Given the description of an element on the screen output the (x, y) to click on. 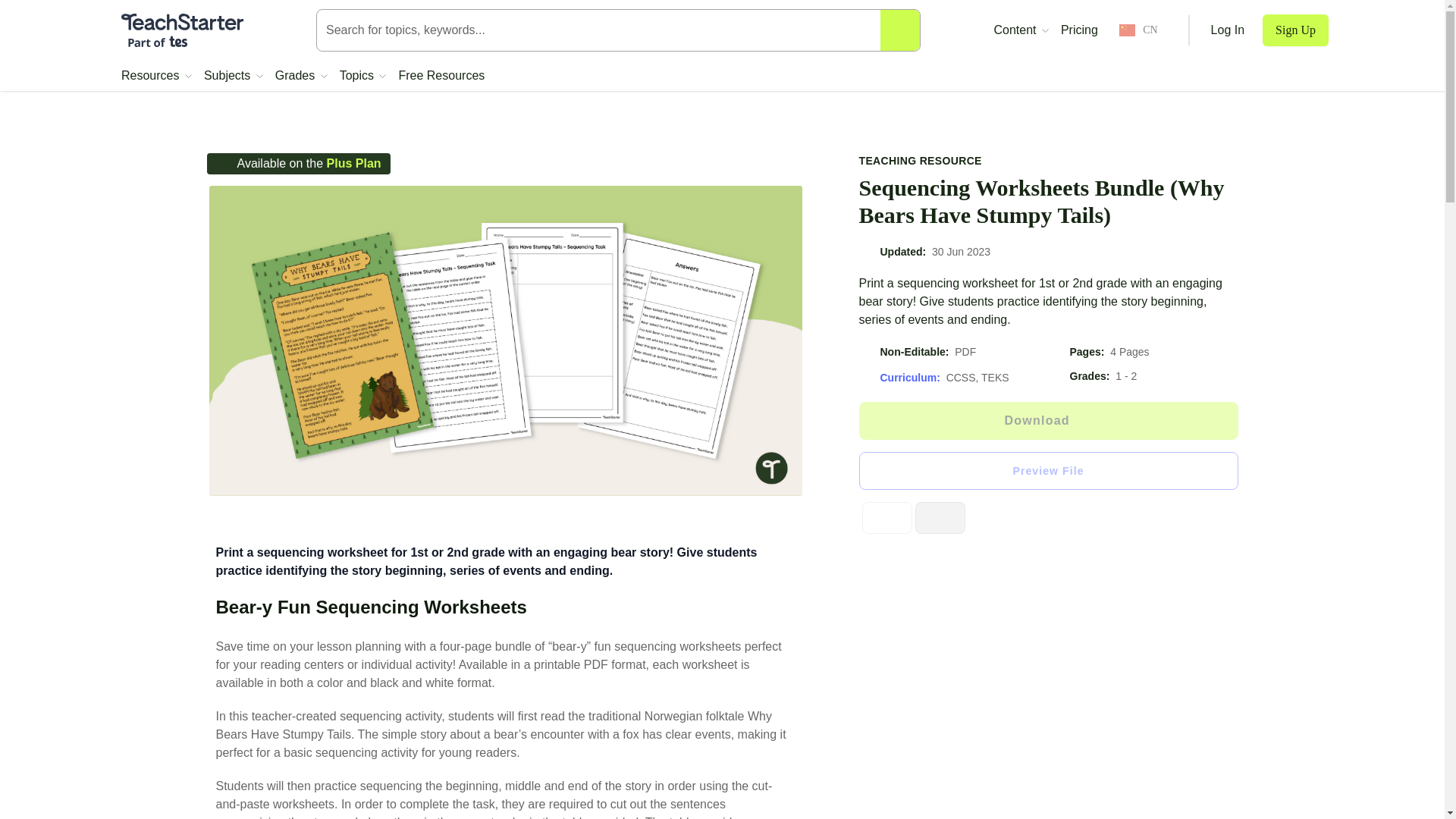
Resources  (156, 75)
Create a Teach Starter account (1294, 29)
Teach Starter, part of Tes (181, 29)
Pricing (1079, 30)
Subjects  (233, 75)
Back to homepage (181, 29)
Blog, podcast, and webinars (1020, 30)
Resources (156, 75)
Content  (1020, 30)
Log in to your account (1227, 30)
Change location (1138, 30)
Sign Up (1294, 29)
Grades  (301, 75)
Log In (1227, 30)
CN (1138, 30)
